Given the description of an element on the screen output the (x, y) to click on. 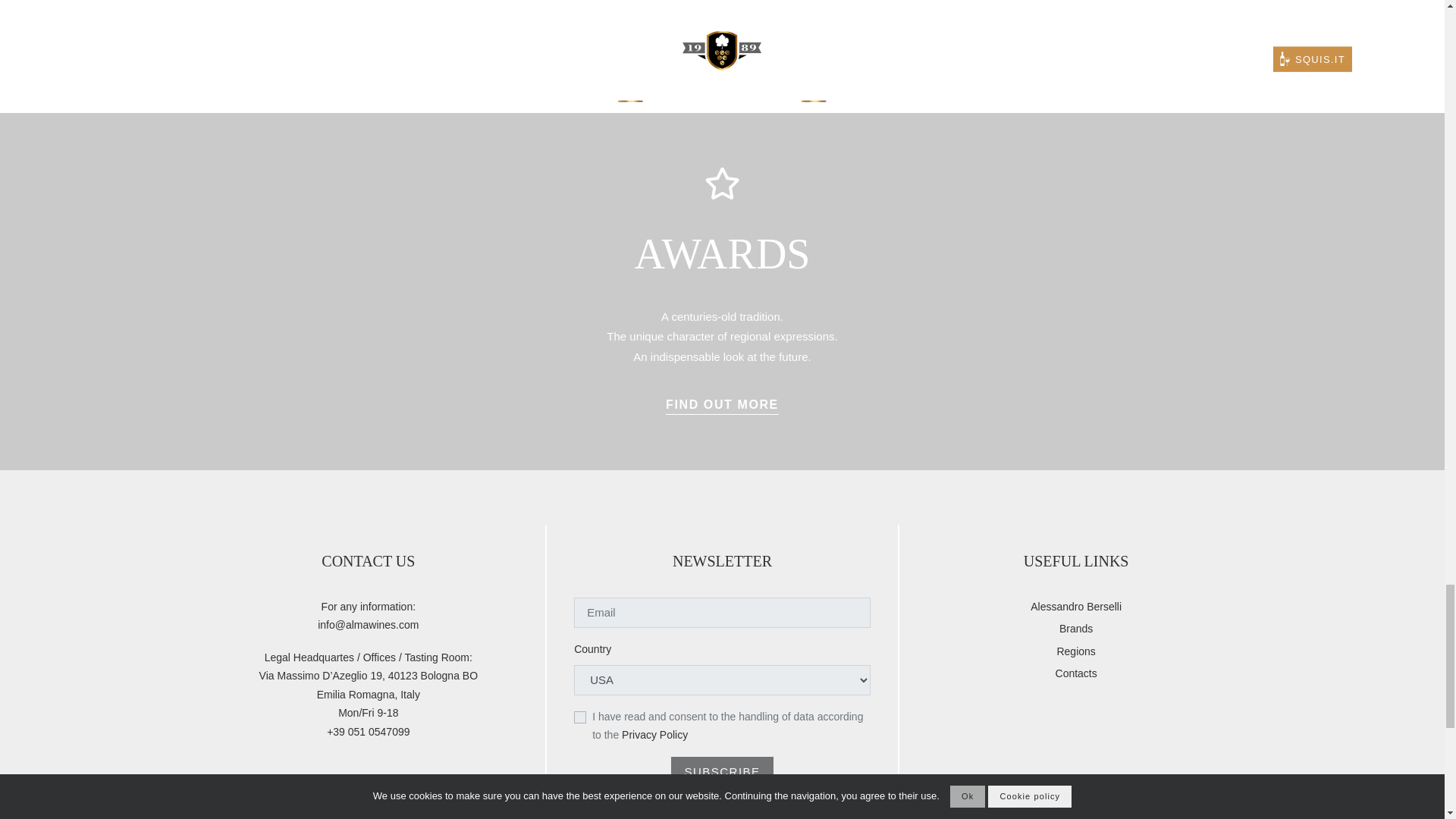
Privacy Policy (654, 734)
Brands (1076, 628)
Alessandro Berselli (1075, 606)
Regions (1075, 651)
SUBSCRIBE (722, 771)
FIND OUT MORE (721, 404)
Contacts (1076, 673)
